Given the description of an element on the screen output the (x, y) to click on. 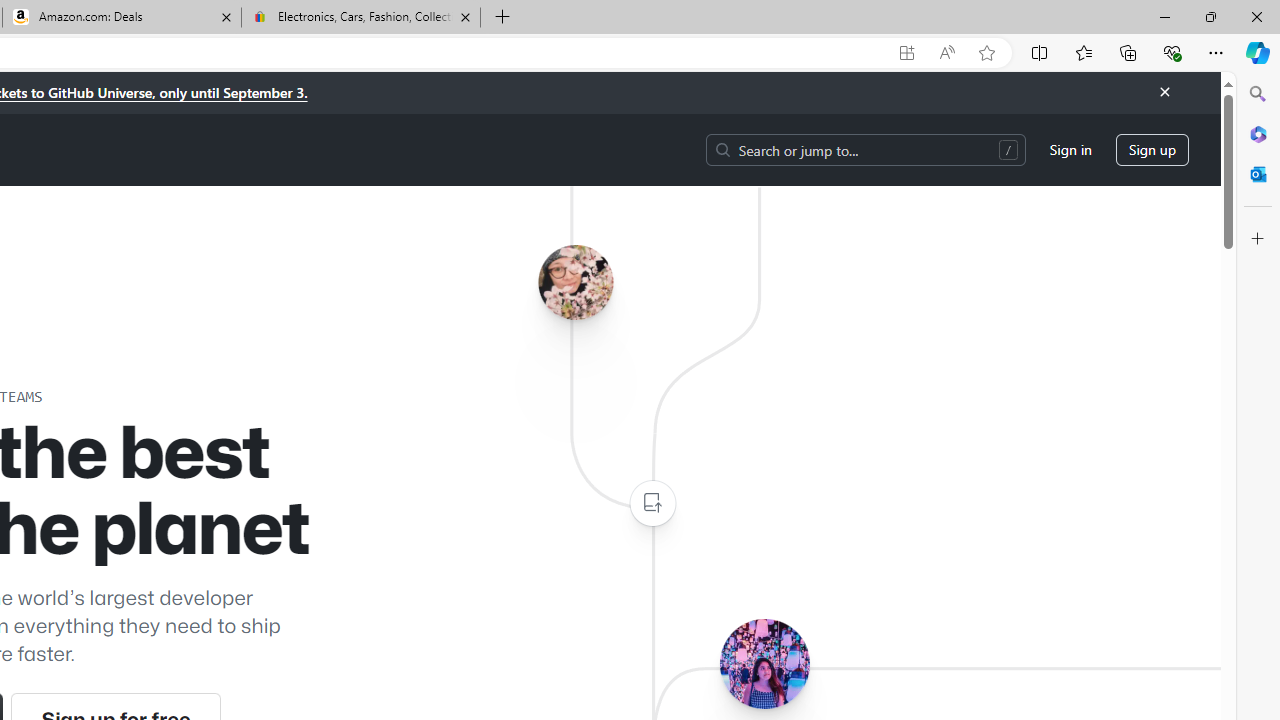
App available. Install GitHub (906, 53)
